Given the description of an element on the screen output the (x, y) to click on. 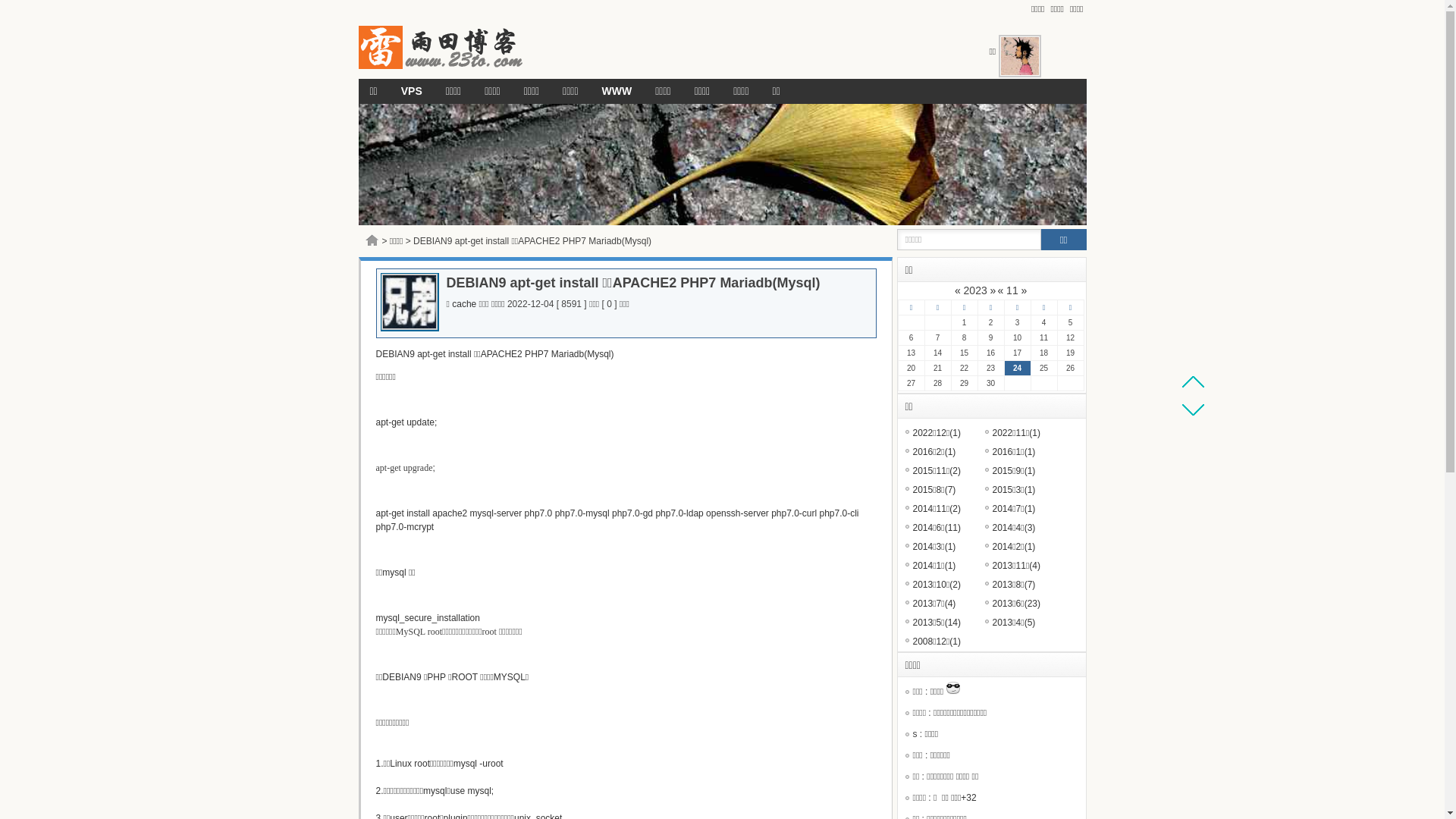
cache Element type: text (463, 303)
VPS Element type: text (411, 90)
home Element type: text (372, 239)
WWW Element type: text (616, 90)
